Given the description of an element on the screen output the (x, y) to click on. 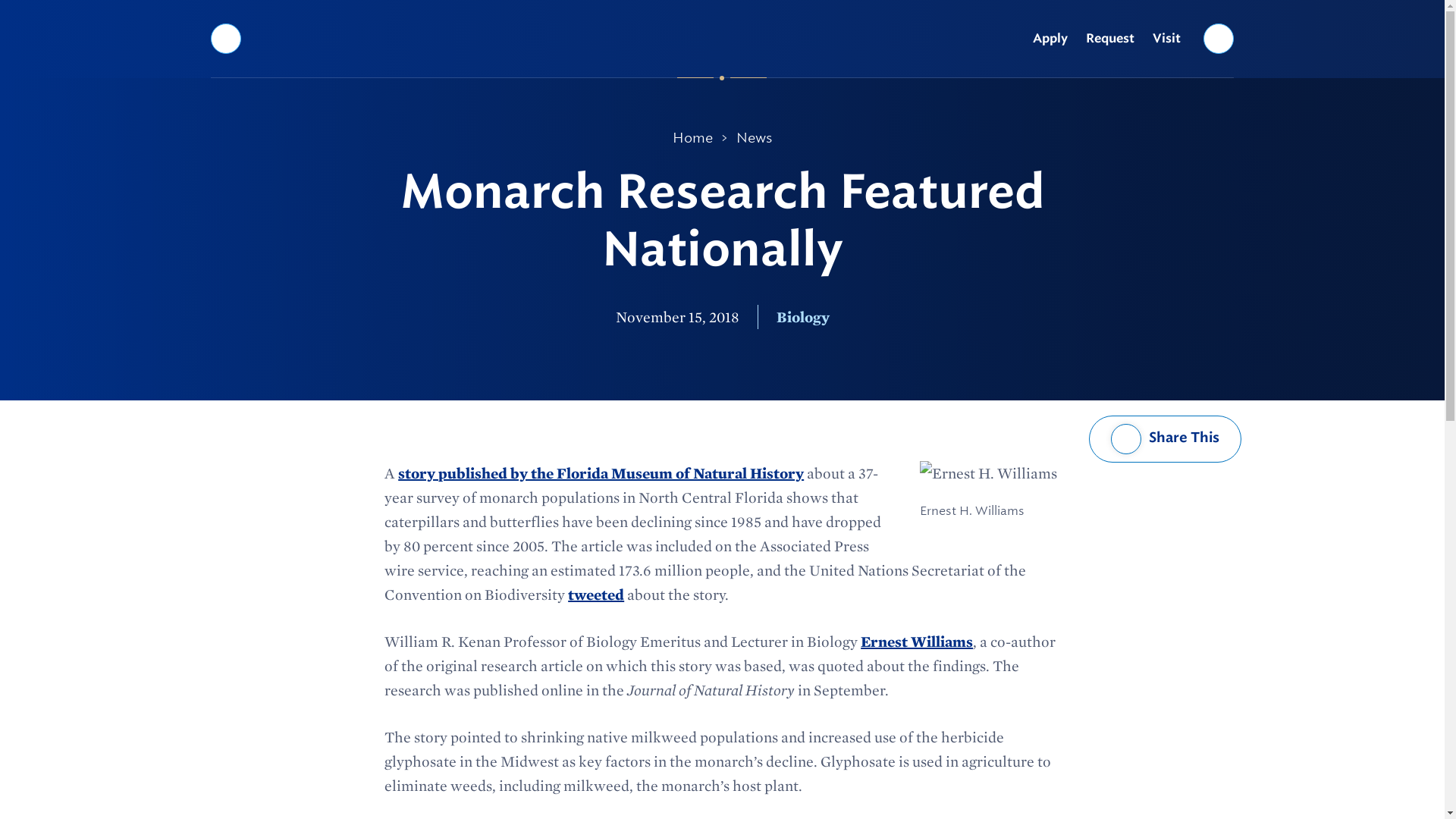
Visit (1165, 38)
Share This (1165, 438)
story published by the Florida Museum of Natural History (600, 473)
Apply (1050, 38)
tweeted (595, 594)
Search (1218, 38)
Biology (802, 316)
Home (692, 138)
Menu (225, 38)
News (753, 138)
